Given the description of an element on the screen output the (x, y) to click on. 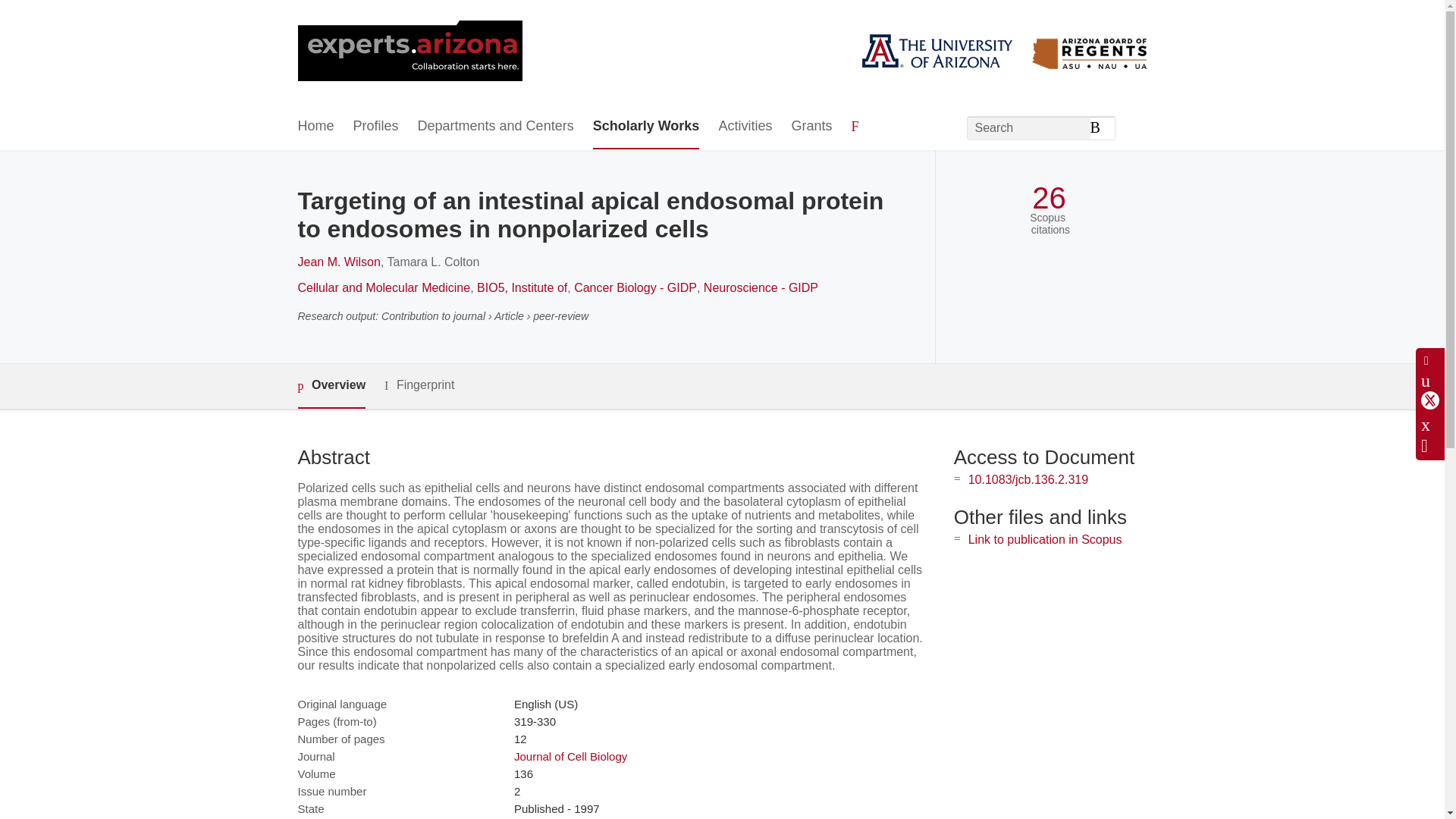
BIO5, Institute of (522, 287)
Link to publication in Scopus (1045, 539)
Departments and Centers (495, 126)
Grants (810, 126)
Scholarly Works (646, 126)
26 (1048, 198)
Profiles (375, 126)
Jean M. Wilson (338, 261)
Cancer Biology - GIDP (635, 287)
Neuroscience - GIDP (760, 287)
Overview (331, 385)
Activities (744, 126)
Journal of Cell Biology (570, 756)
Fingerprint (419, 385)
Cellular and Molecular Medicine (383, 287)
